Given the description of an element on the screen output the (x, y) to click on. 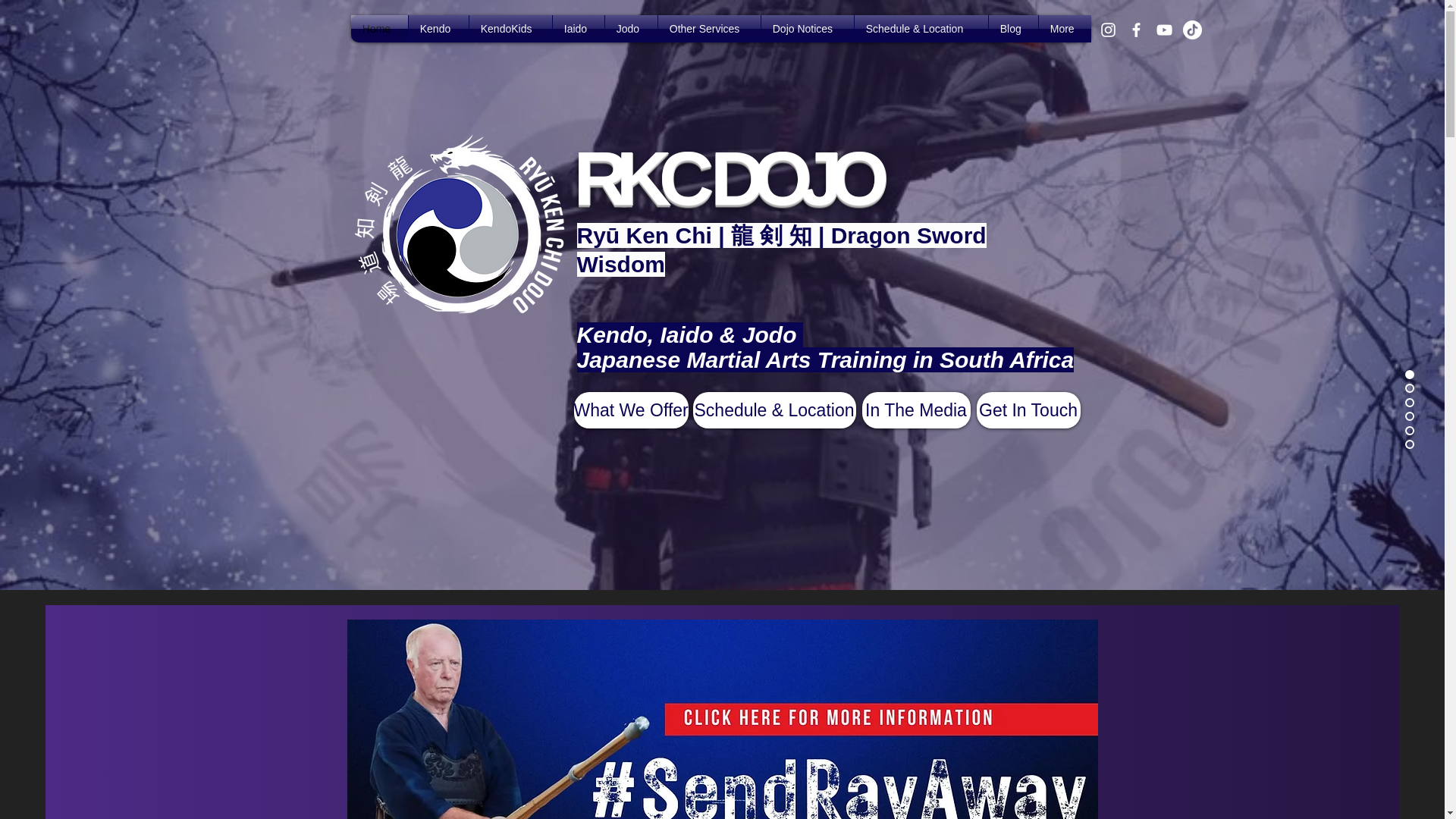
In The Media (915, 410)
Jodo (631, 28)
KendoKids (509, 28)
Blog (1013, 28)
Iaido (578, 28)
Dojo Notices (807, 28)
Get In Touch (1028, 410)
What We Offer (630, 410)
Home (378, 28)
Kendo (438, 28)
